Given the description of an element on the screen output the (x, y) to click on. 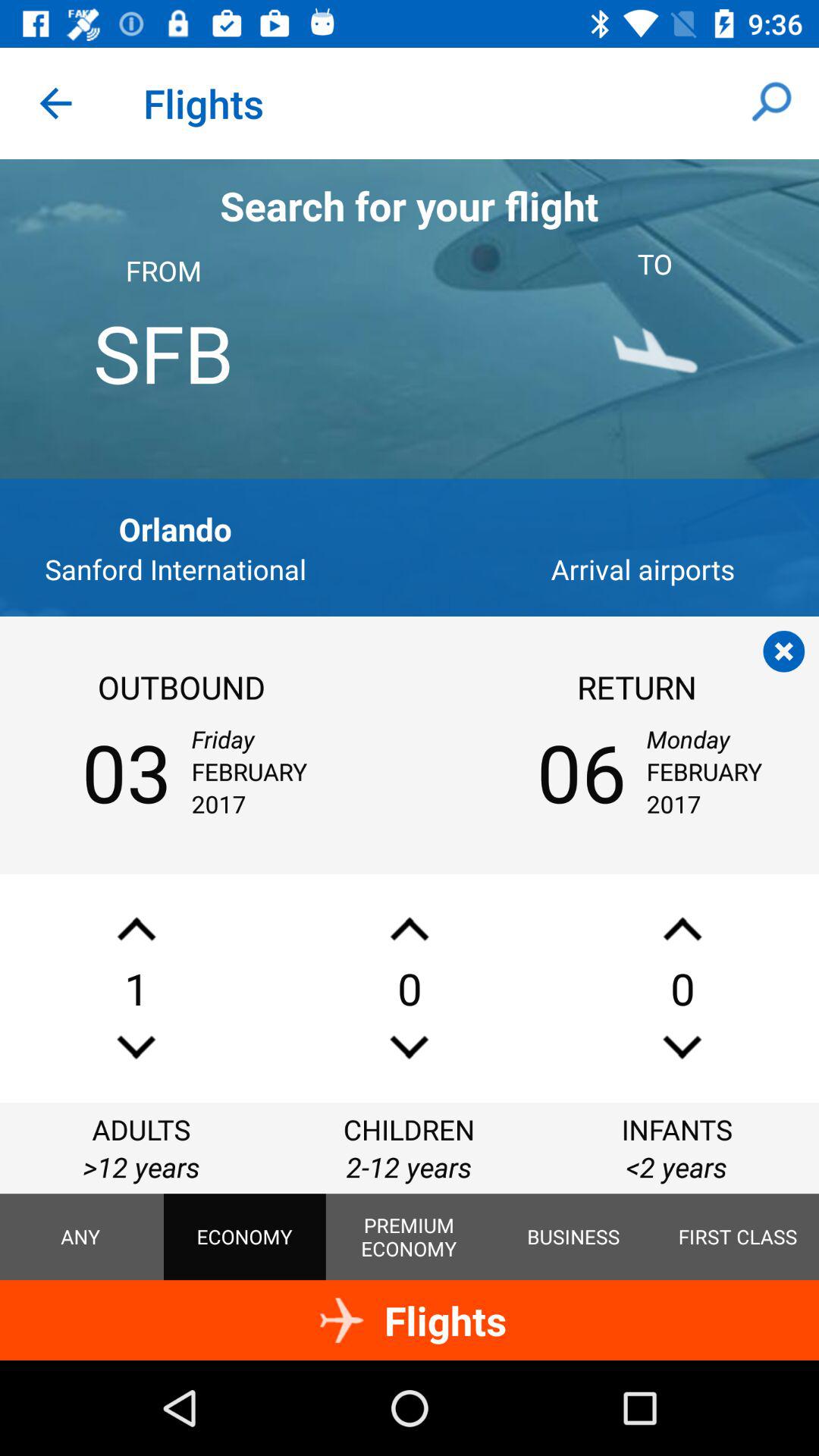
press icon below the 2-12 years icon (409, 1236)
